Given the description of an element on the screen output the (x, y) to click on. 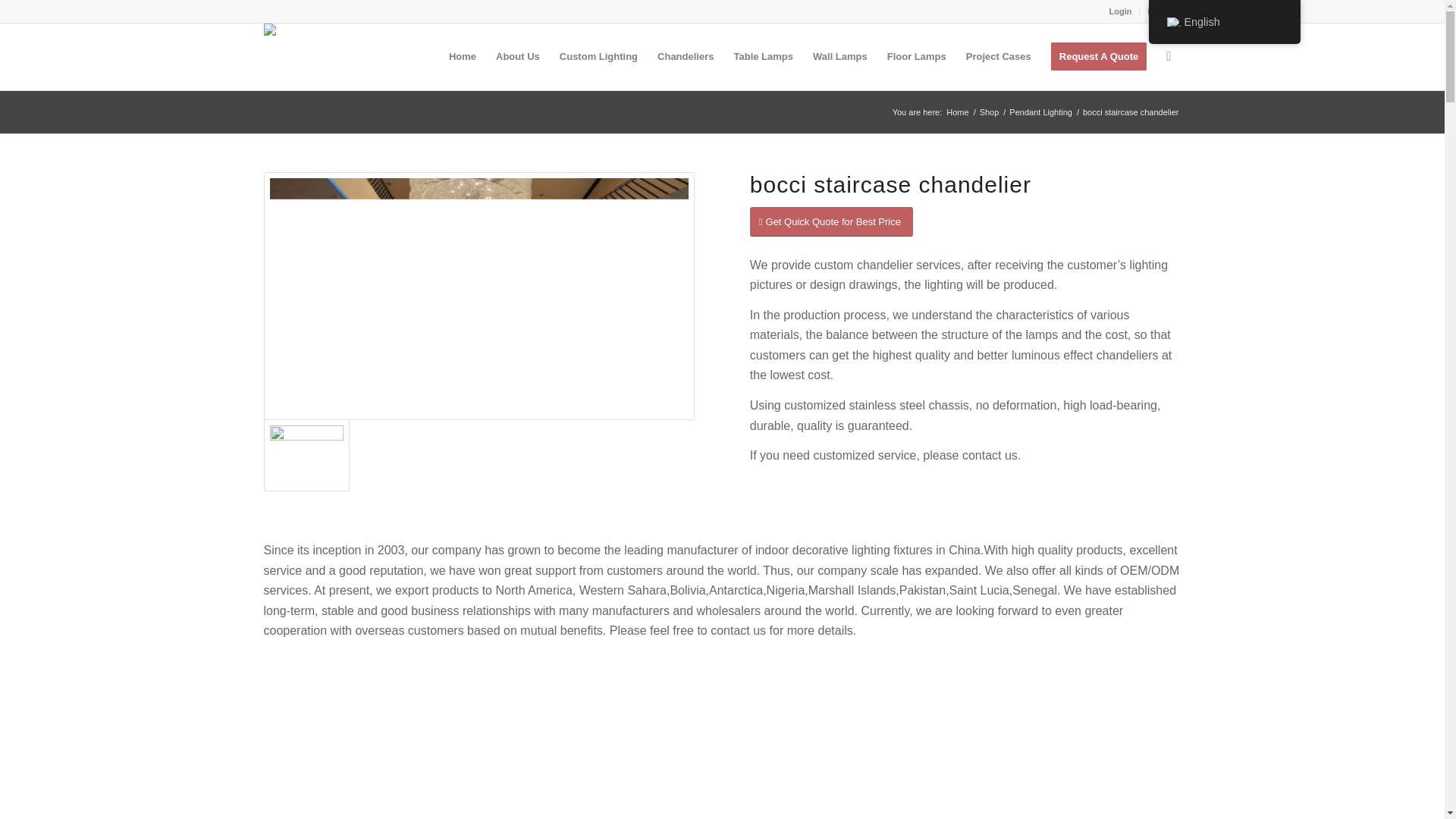
Table Lamps (763, 56)
ANC Lighting (957, 112)
Register (1163, 11)
Wall Lamps (840, 56)
Pendant Lighting (1040, 112)
commercial-building-germany-wranovsky-chandelier-300x300 (479, 295)
Custom Lighting (598, 56)
commercial-building-germany-wranovsky-chandelier-300x300 (306, 455)
LOGO (305, 37)
